Given the description of an element on the screen output the (x, y) to click on. 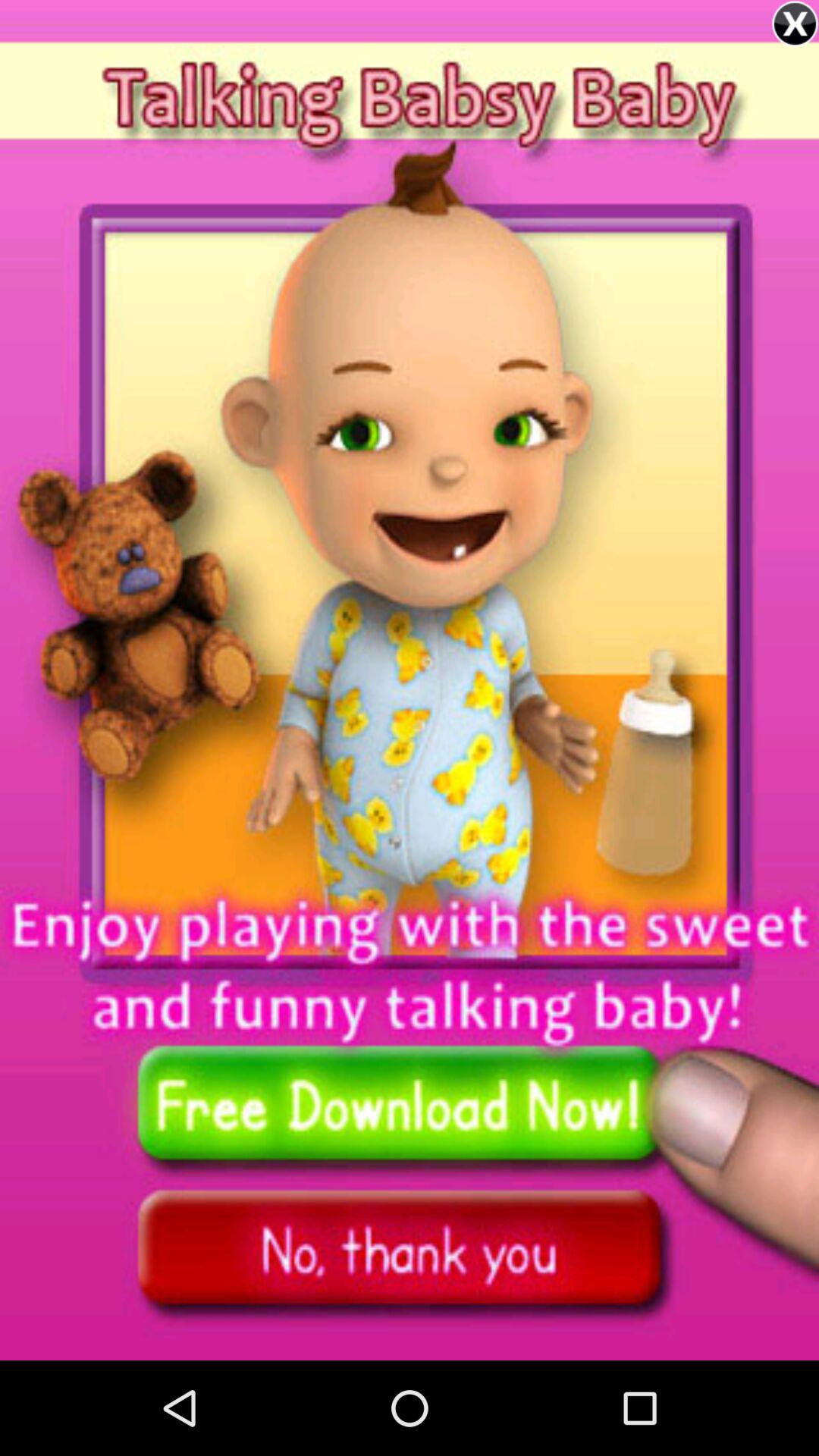
close advertisement (795, 23)
